Given the description of an element on the screen output the (x, y) to click on. 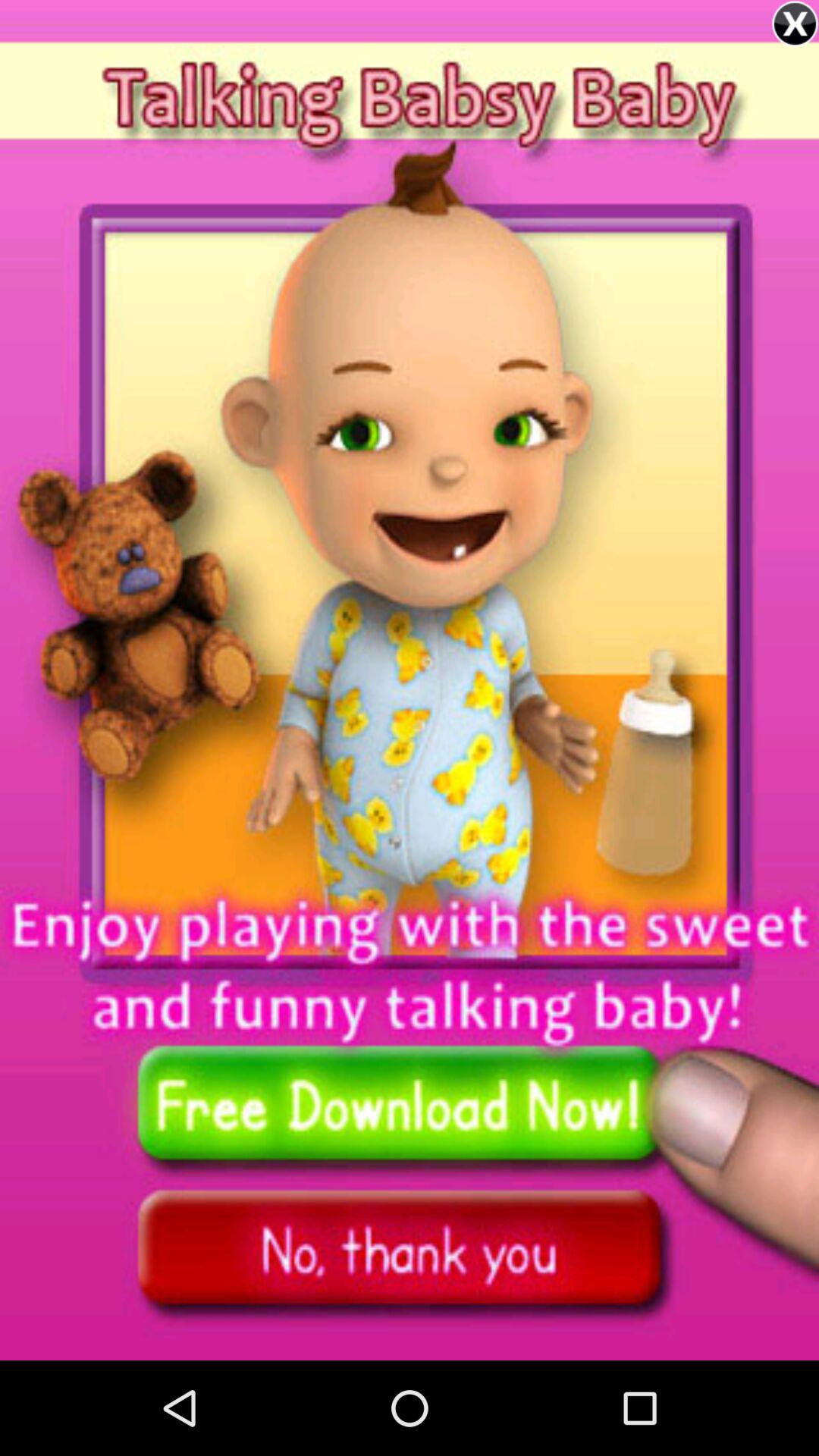
close advertisement (795, 23)
